Given the description of an element on the screen output the (x, y) to click on. 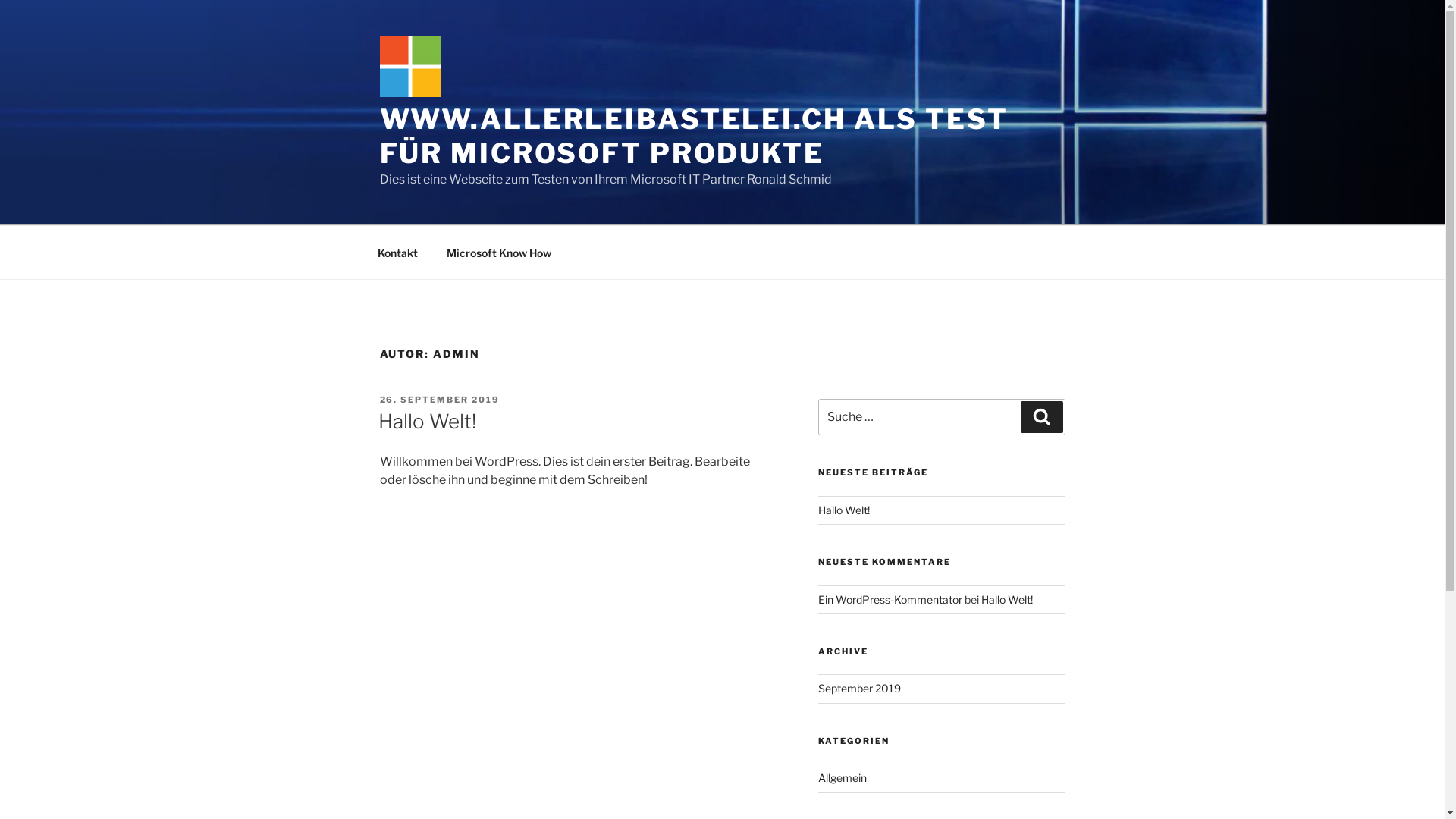
Allgemein Element type: text (842, 777)
Hallo Welt! Element type: text (843, 509)
Zum Inhalt springen Element type: text (0, 0)
Microsoft Know How Element type: text (498, 251)
Hallo Welt! Element type: text (426, 421)
26. SEPTEMBER 2019 Element type: text (439, 399)
Suche Element type: text (1041, 417)
September 2019 Element type: text (859, 687)
Ein WordPress-Kommentator Element type: text (890, 599)
Kontakt Element type: text (397, 251)
Hallo Welt! Element type: text (1006, 599)
